Given the description of an element on the screen output the (x, y) to click on. 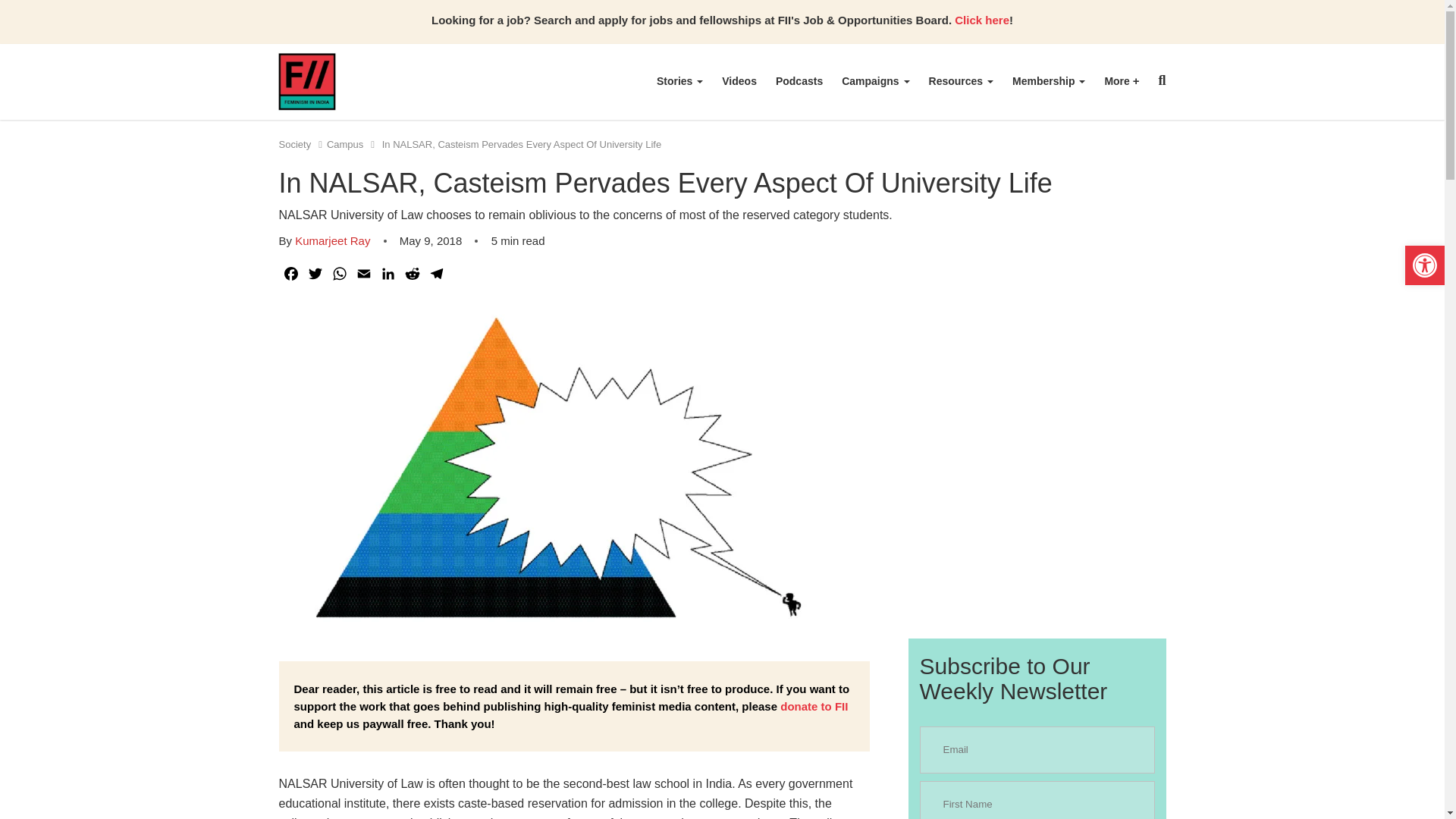
Accessibility Tools (1424, 265)
